Given the description of an element on the screen output the (x, y) to click on. 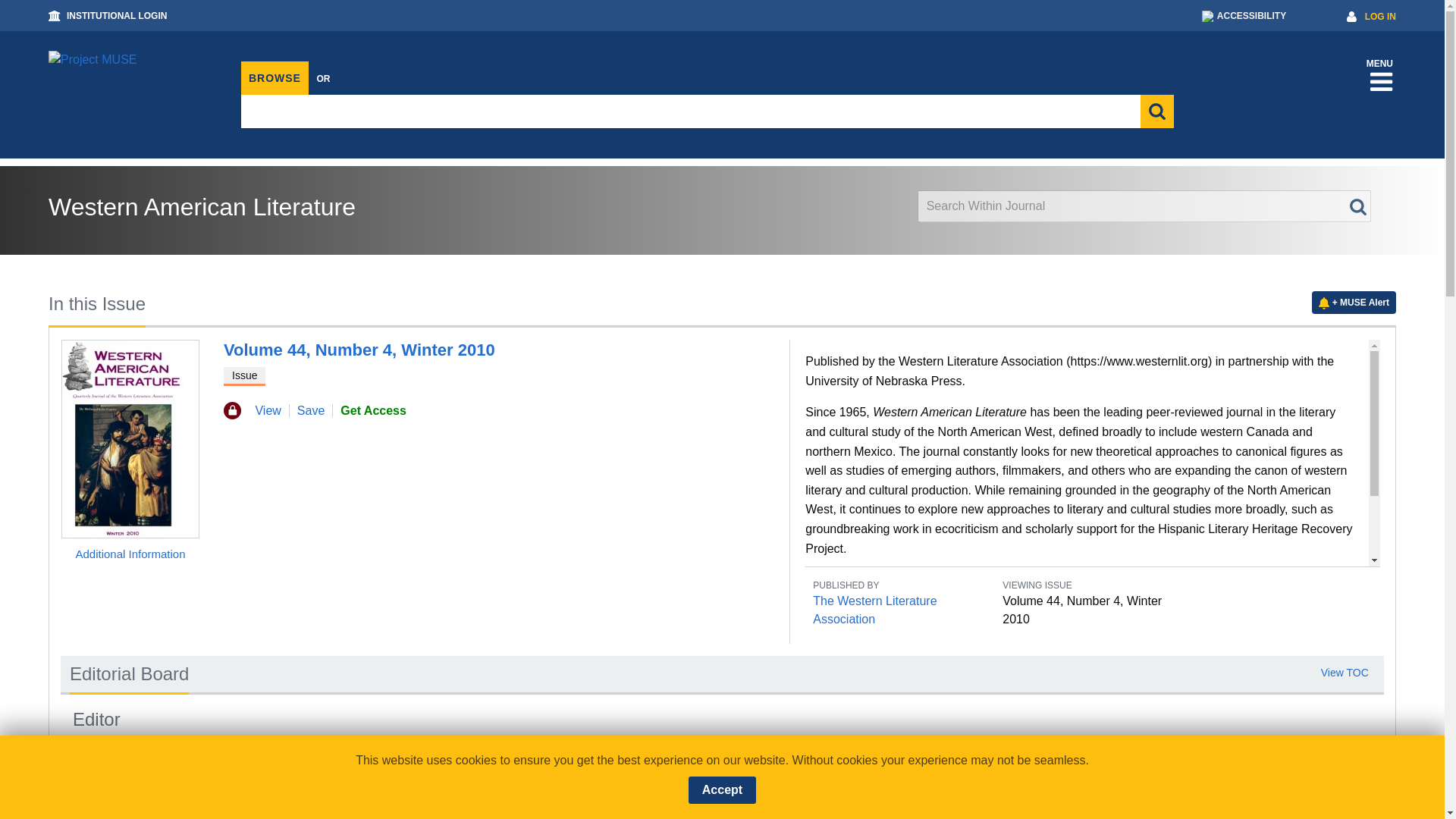
Additional Information (129, 553)
Western American Literature (201, 206)
Save (310, 410)
ACCESSIBILITY (1244, 15)
View TOC (1344, 672)
BROWSE (274, 78)
View (267, 409)
INSTITUTIONAL LOGIN (116, 15)
The Western Literature Association (874, 609)
LOG IN (1380, 16)
